Given the description of an element on the screen output the (x, y) to click on. 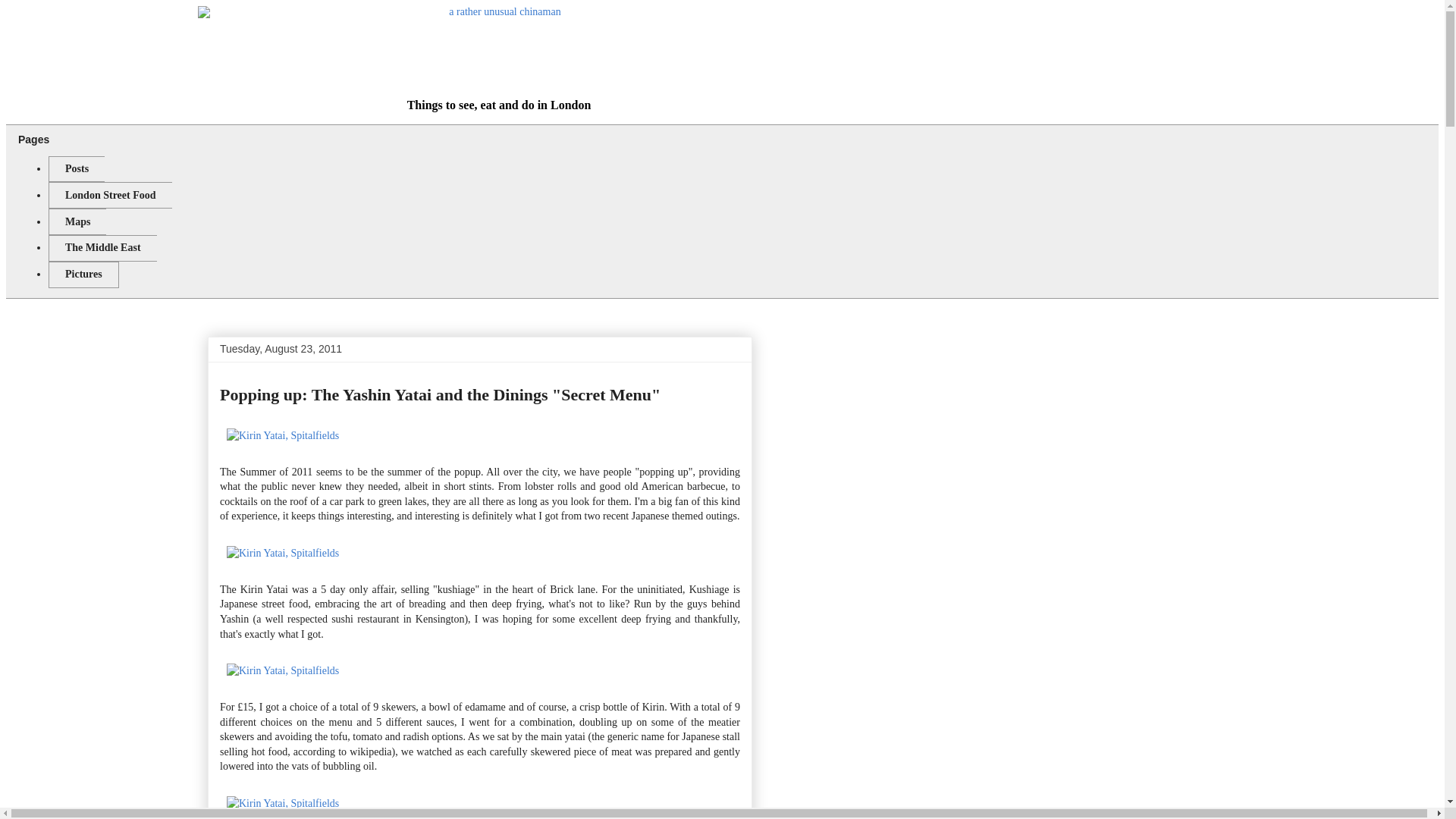
The Middle East (102, 248)
London Street Food (109, 194)
Pictures (83, 274)
Kirin Yatai, Spitalfields by tehbus, on Flickr (282, 670)
Posts (76, 169)
Maps (77, 221)
Kirin Yatai, Spitalfields by tehbus, on Flickr (282, 435)
Kirin Yatai, Spitalfields by tehbus, on Flickr (282, 552)
Kirin Yatai, Spitalfields by tehbus, on Flickr (282, 803)
